Given the description of an element on the screen output the (x, y) to click on. 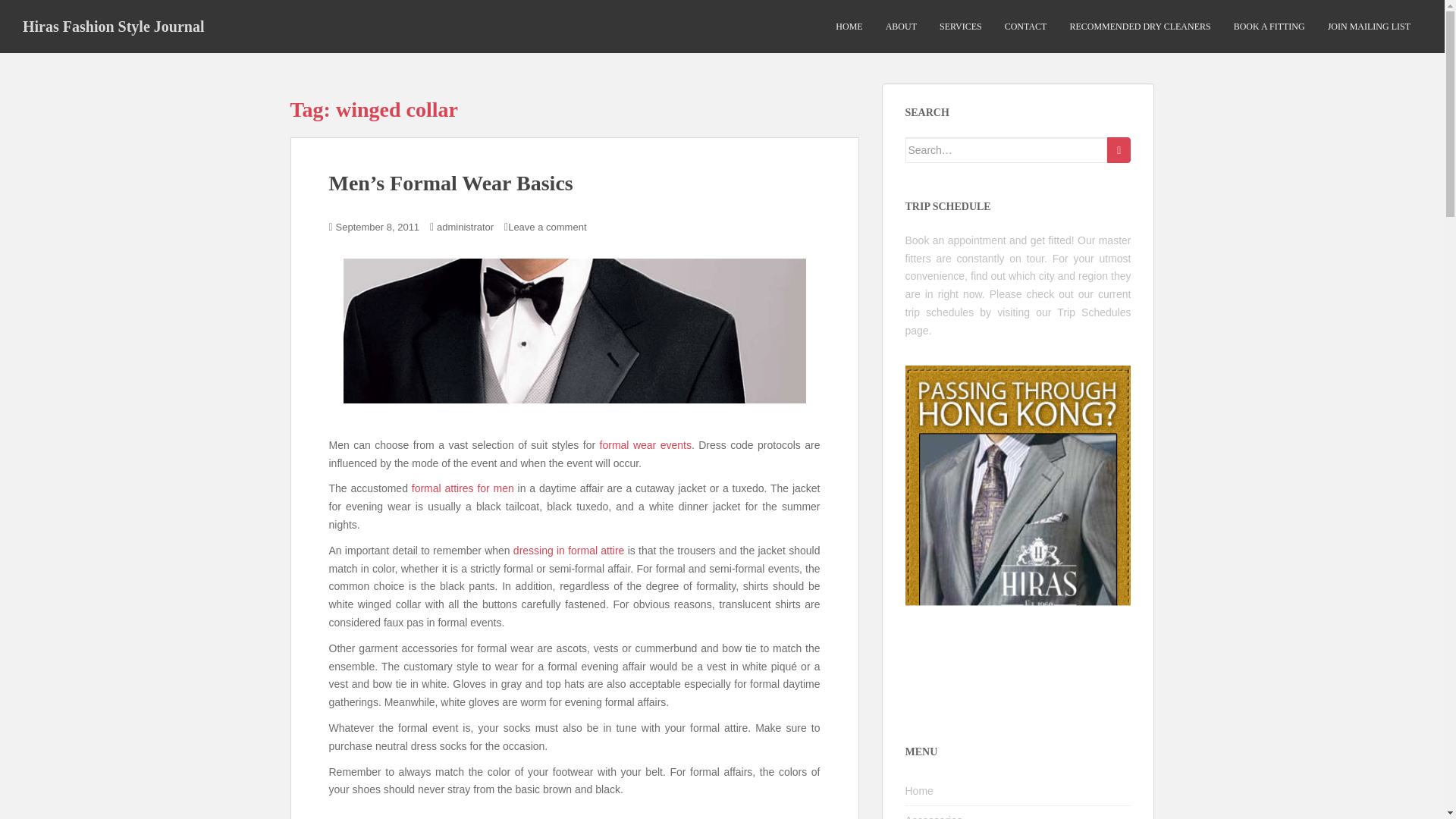
Accessories (1018, 812)
CONTACT (1025, 26)
SERVICES (960, 26)
BOOK A FITTING (1268, 26)
Search (1118, 149)
Home (1018, 790)
formal attires for men (462, 488)
JOIN MAILING LIST (1368, 26)
Best International Custom Tailored Suits And Shirts (462, 488)
ABOUT (901, 26)
formal wear events (645, 444)
dressing in formal attire (568, 550)
RECOMMENDED DRY CLEANERS (1138, 26)
Search for: (1006, 149)
Custom Suits And Shirts Tailoring (568, 550)
